Given the description of an element on the screen output the (x, y) to click on. 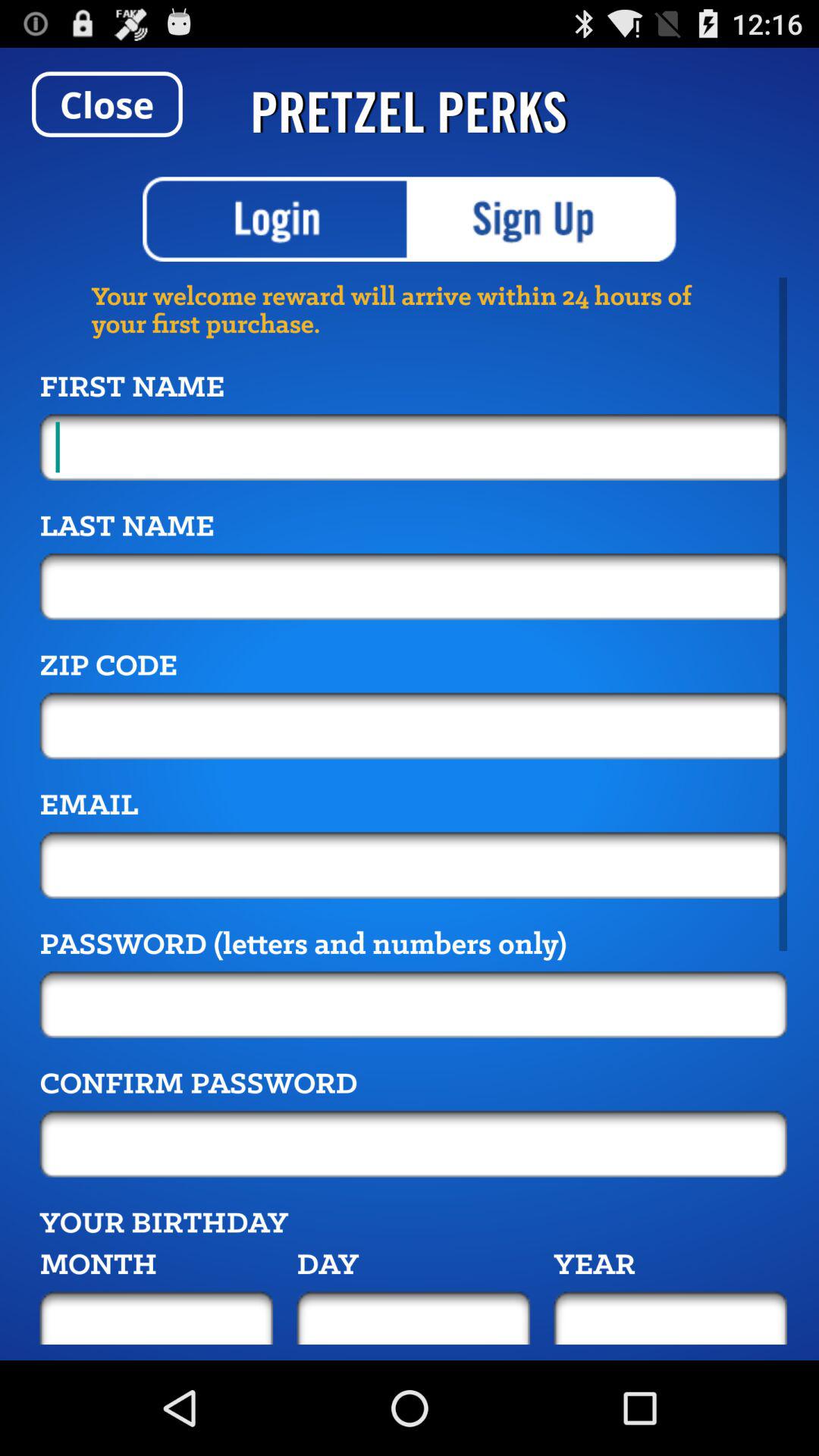
enroll (543, 218)
